Given the description of an element on the screen output the (x, y) to click on. 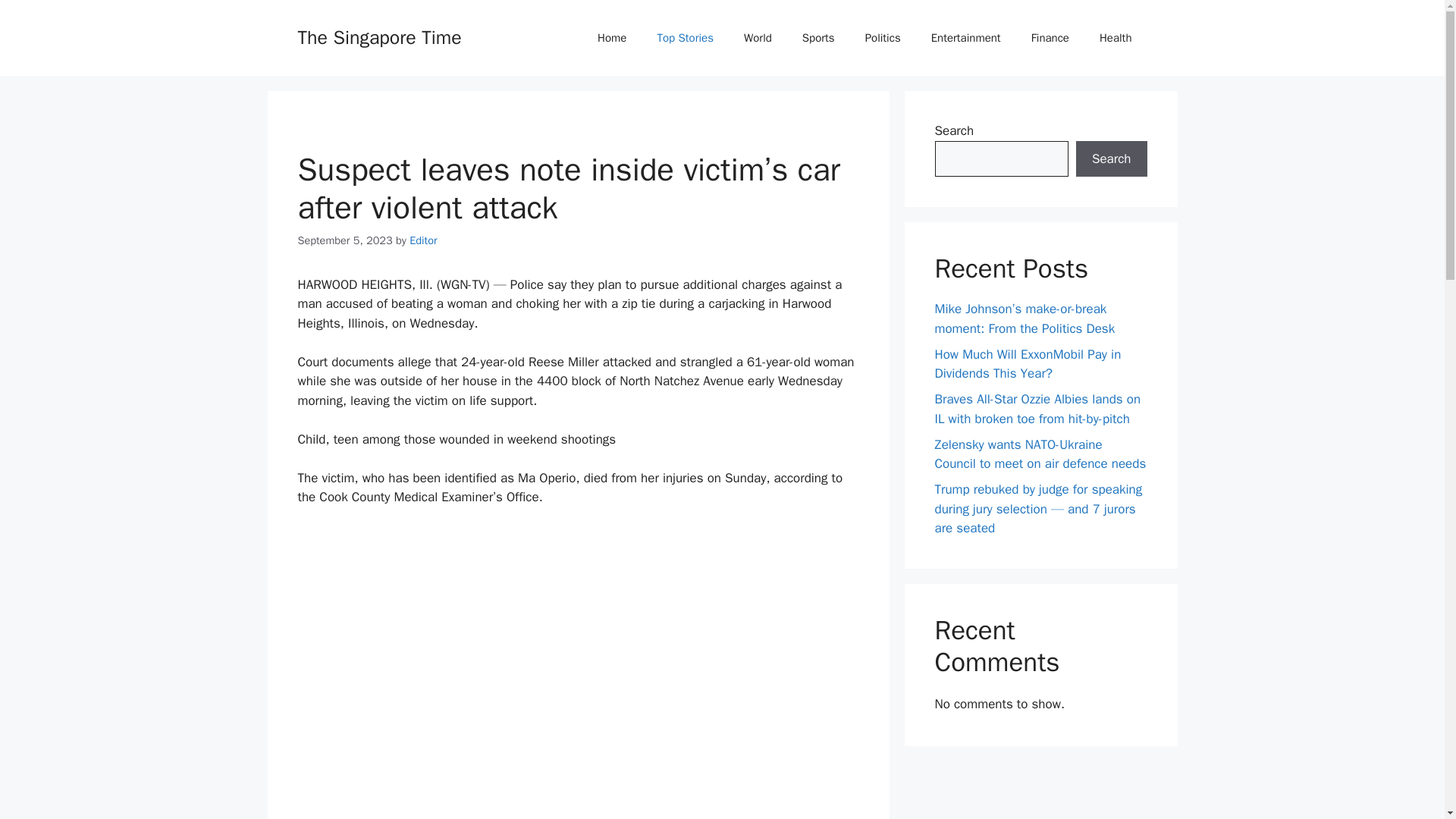
Home (612, 37)
How Much Will ExxonMobil Pay in Dividends This Year? (1027, 363)
Top Stories (685, 37)
View all posts by Editor (422, 240)
Editor (422, 240)
Finance (1050, 37)
The Singapore Time (379, 37)
Entertainment (965, 37)
Politics (882, 37)
